Given the description of an element on the screen output the (x, y) to click on. 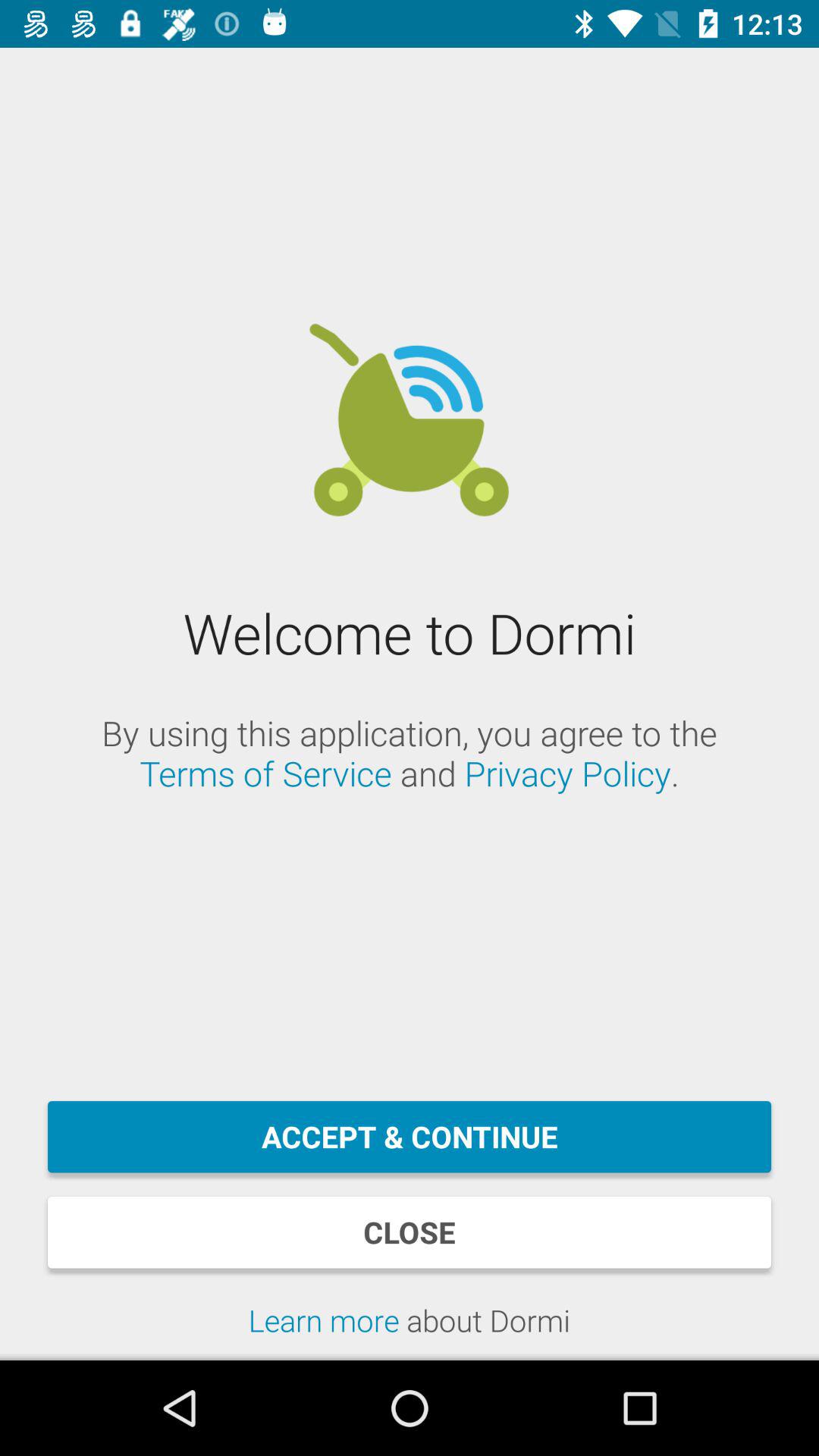
tap the accept & continue icon (409, 1136)
